Given the description of an element on the screen output the (x, y) to click on. 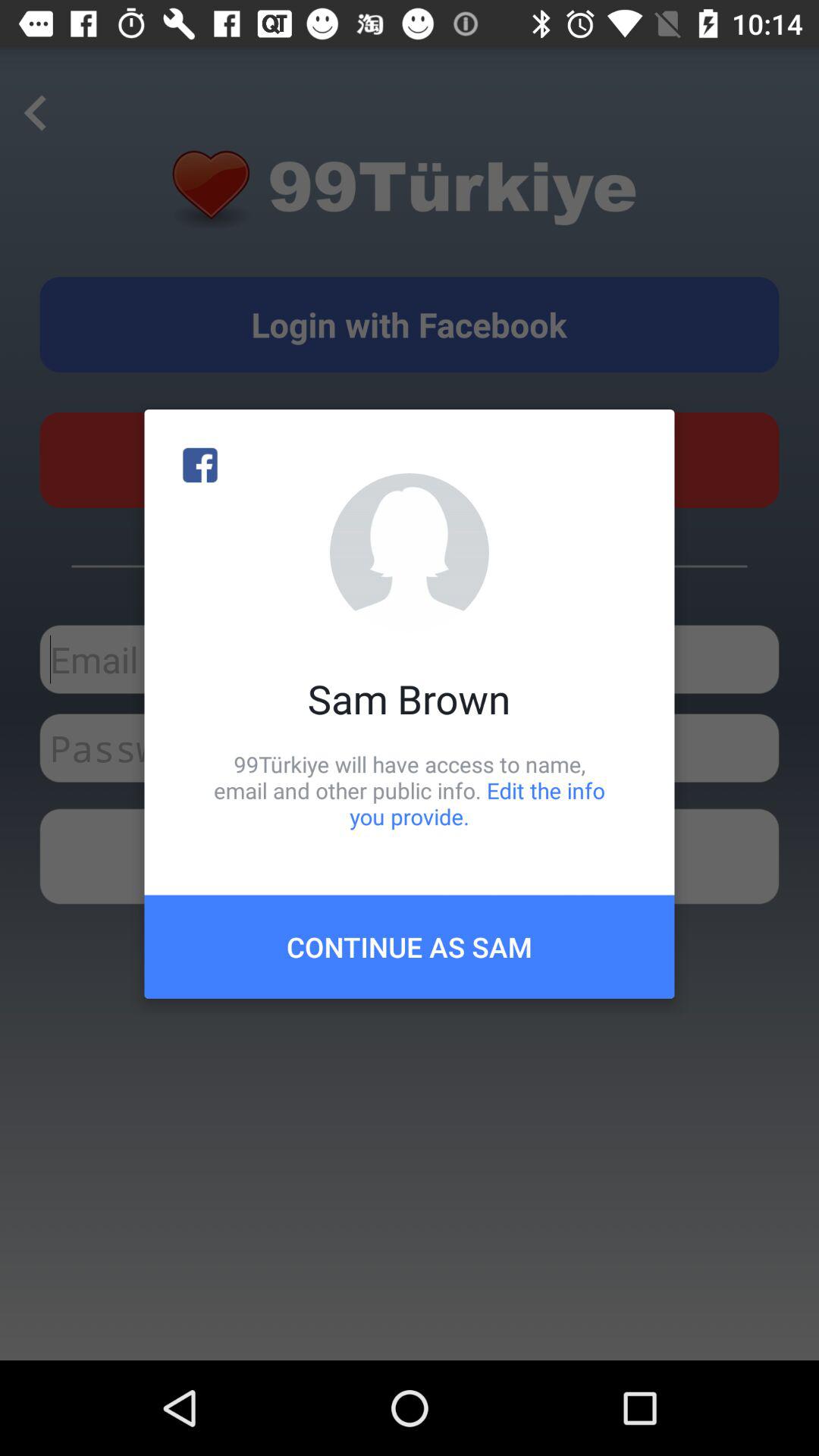
turn on icon below sam brown (409, 790)
